Given the description of an element on the screen output the (x, y) to click on. 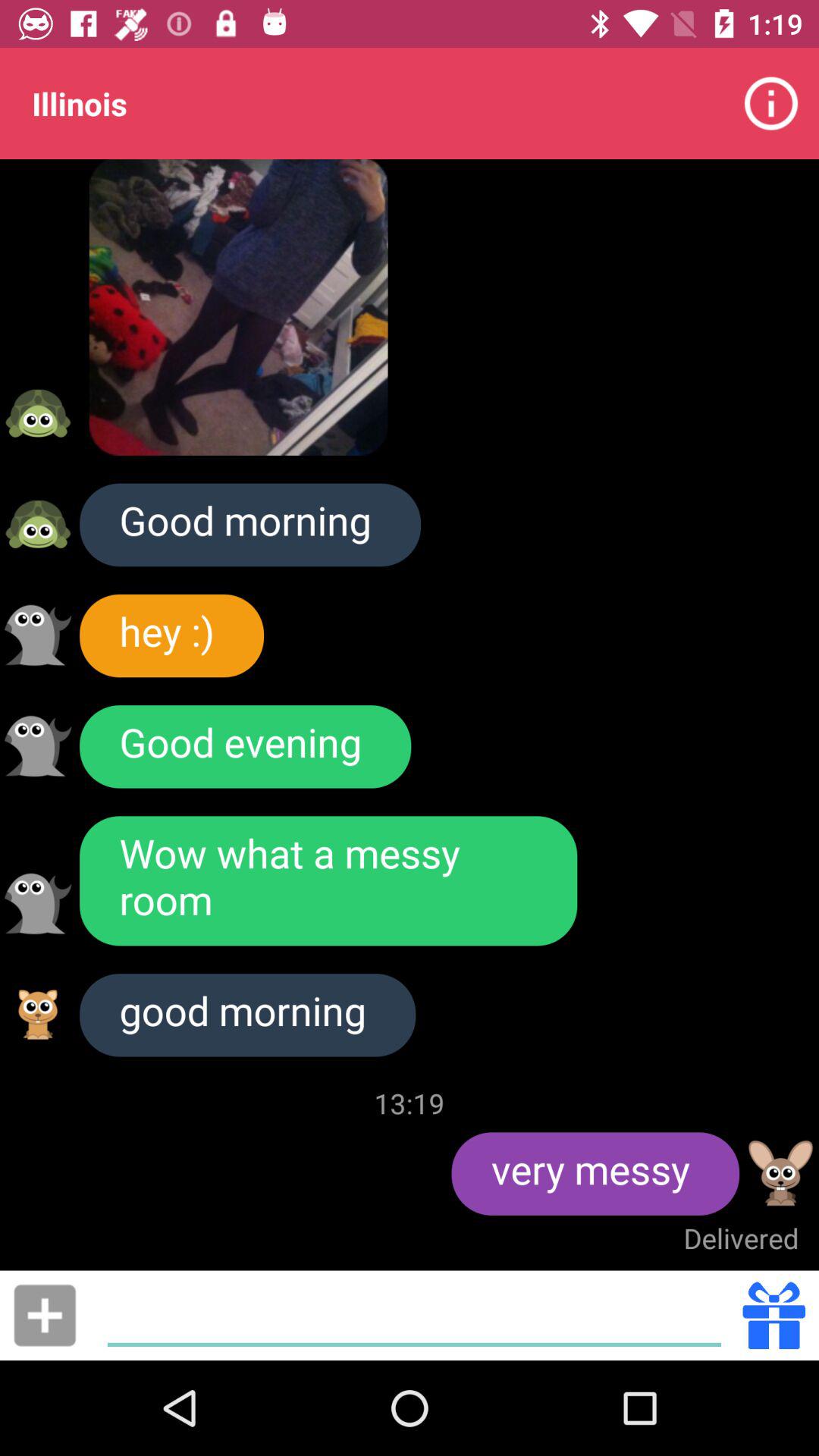
turn on 13:19 item (409, 1103)
